Given the description of an element on the screen output the (x, y) to click on. 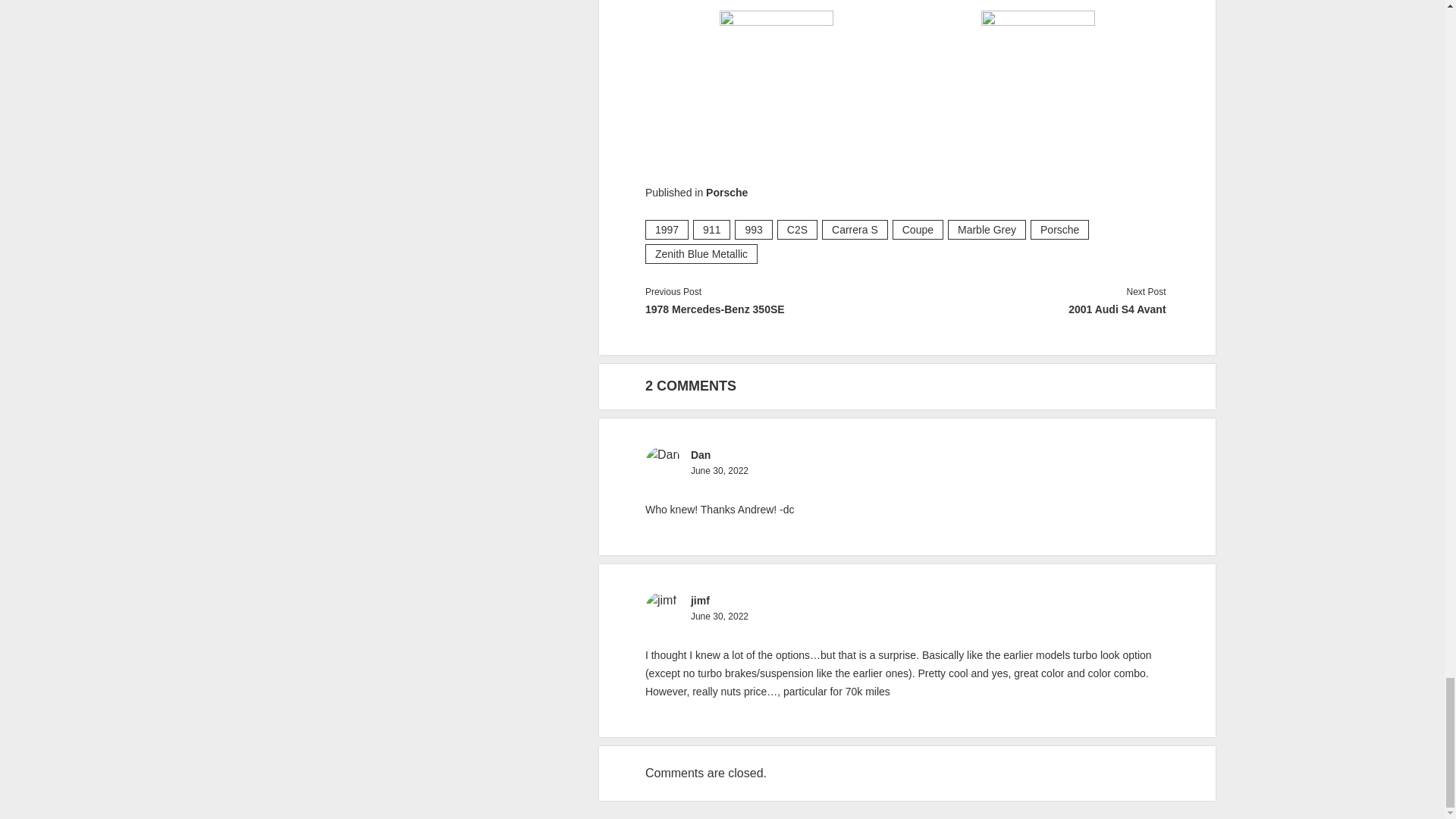
View all posts tagged 1997 (666, 229)
View all posts tagged 993 (753, 229)
1997 (666, 229)
View all posts tagged Carrera S (855, 229)
C2S (796, 229)
View all posts tagged 911 (711, 229)
View all posts tagged C2S (796, 229)
Marble Grey (986, 229)
2001 Audi S4 Avant (1035, 309)
View all posts tagged Zenith Blue Metallic (701, 253)
View all posts tagged Marble Grey (986, 229)
Porsche (727, 192)
Dan (700, 454)
Carrera S (855, 229)
Porsche (1059, 229)
